Given the description of an element on the screen output the (x, y) to click on. 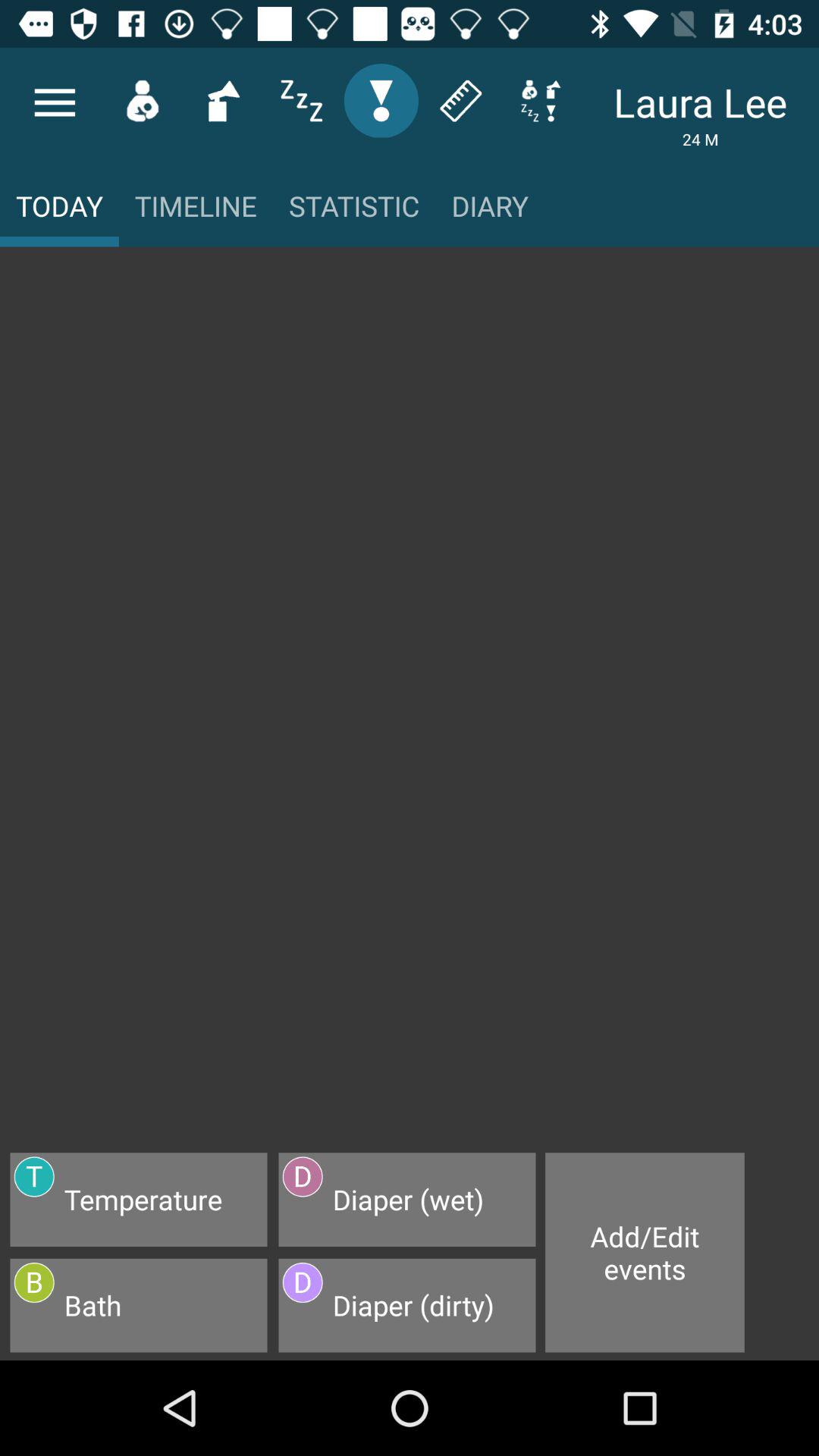
press the icon above the temperature item (409, 707)
